Given the description of an element on the screen output the (x, y) to click on. 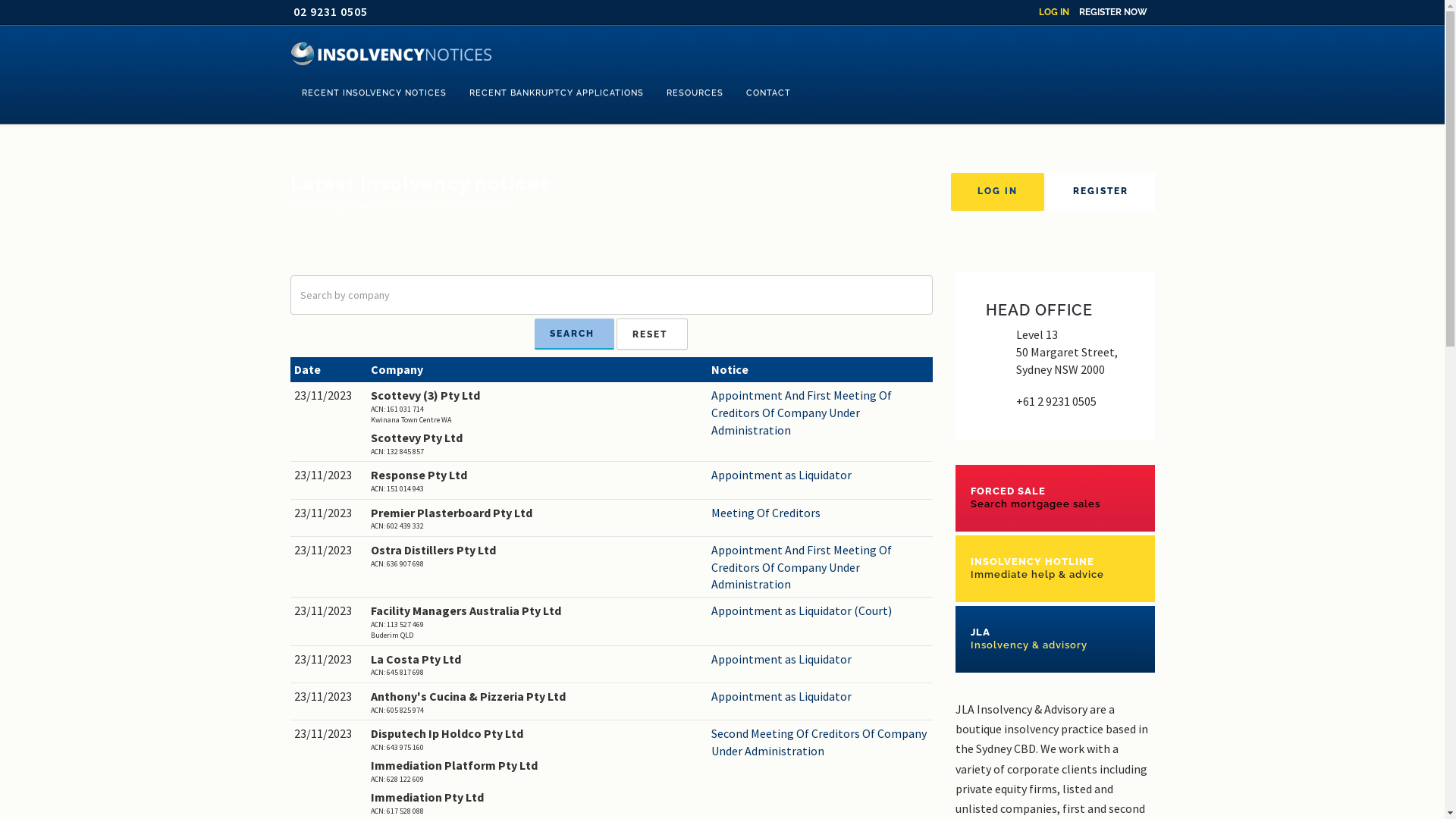
23/11/2023 Element type: text (329, 395)
23/11/2023 Element type: text (329, 733)
Appointment as Liquidator Element type: text (819, 696)
23/11/2023 Element type: text (329, 659)
INSOLVENCY HOTLINE  
Immediate help & advice Element type: text (1054, 568)
REGISTER Element type: text (1100, 191)
23/11/2023 Element type: text (329, 610)
23/11/2023 Element type: text (329, 474)
LOG IN Element type: text (997, 191)
Anthony's Cucina & Pizzeria Pty Ltd
ACN: 605 825 974 Element type: text (536, 701)
Appointment as Liquidator Element type: text (819, 474)
RESOURCES Element type: text (694, 92)
REGISTER NOW Element type: text (1112, 11)
Appointment as Liquidator (Court) Element type: text (819, 610)
CONTACT Element type: text (767, 92)
Ostra Distillers Pty Ltd
ACN: 636 907 698 Element type: text (536, 555)
23/11/2023 Element type: text (329, 696)
Response Pty Ltd
ACN: 151 014 943 Element type: text (536, 480)
La Costa Pty Ltd
ACN: 645 817 698 Element type: text (536, 664)
Meeting Of Creditors Element type: text (819, 512)
23/11/2023 Element type: text (329, 512)
Search Element type: text (574, 333)
23/11/2023 Element type: text (329, 549)
RECENT BANKRUPTCY APPLICATIONS Element type: text (556, 92)
Appointment as Liquidator Element type: text (819, 659)
RECENT INSOLVENCY NOTICES Element type: text (373, 92)
JLA  
Insolvency & advisory Element type: text (1054, 638)
FORCED SALE  
Search mortgagee sales Element type: text (1054, 497)
Premier Plasterboard Pty Ltd
ACN: 602 439 332 Element type: text (536, 518)
Second Meeting Of Creditors Of Company Under Administration Element type: text (819, 741)
LOG IN Element type: text (1053, 11)
